Given the description of an element on the screen output the (x, y) to click on. 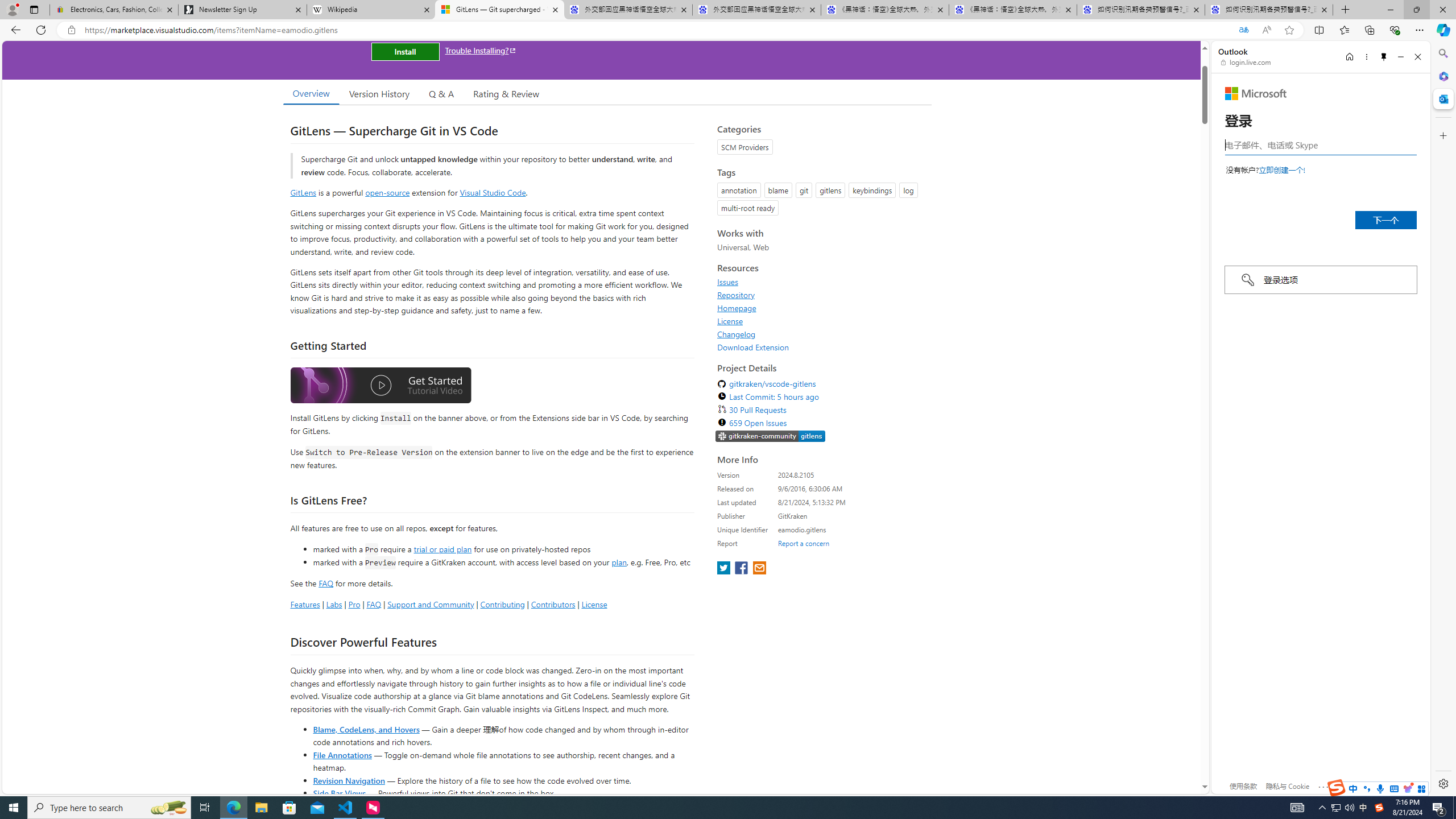
Blame, CodeLens, and Hovers (366, 728)
Microsoft (1255, 93)
GitLens (303, 192)
Labs (334, 603)
Download Extension (753, 346)
Rating & Review (505, 92)
File Annotations (342, 754)
